Given the description of an element on the screen output the (x, y) to click on. 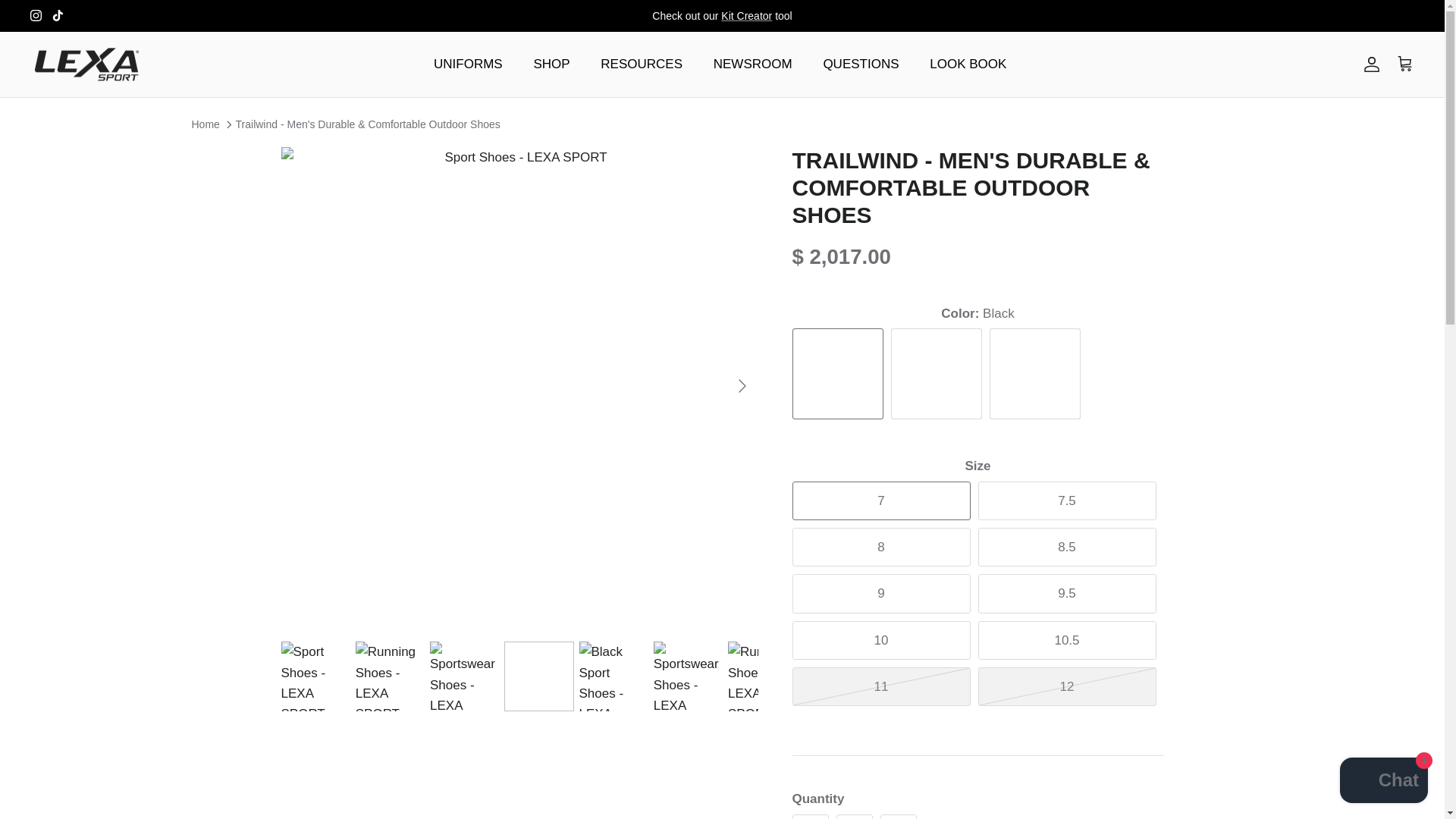
UNIFORMS (468, 63)
LEXASPORT (87, 64)
SHOP (551, 63)
RESOURCES (640, 63)
Instagram (36, 15)
Kit Creator (745, 15)
Cart (1404, 64)
1 (853, 816)
Account (1368, 64)
LOOK BOOK (967, 63)
Right (741, 385)
QUESTIONS (860, 63)
Customizable Catalog (745, 15)
Instagram (36, 15)
NEWSROOM (753, 63)
